Given the description of an element on the screen output the (x, y) to click on. 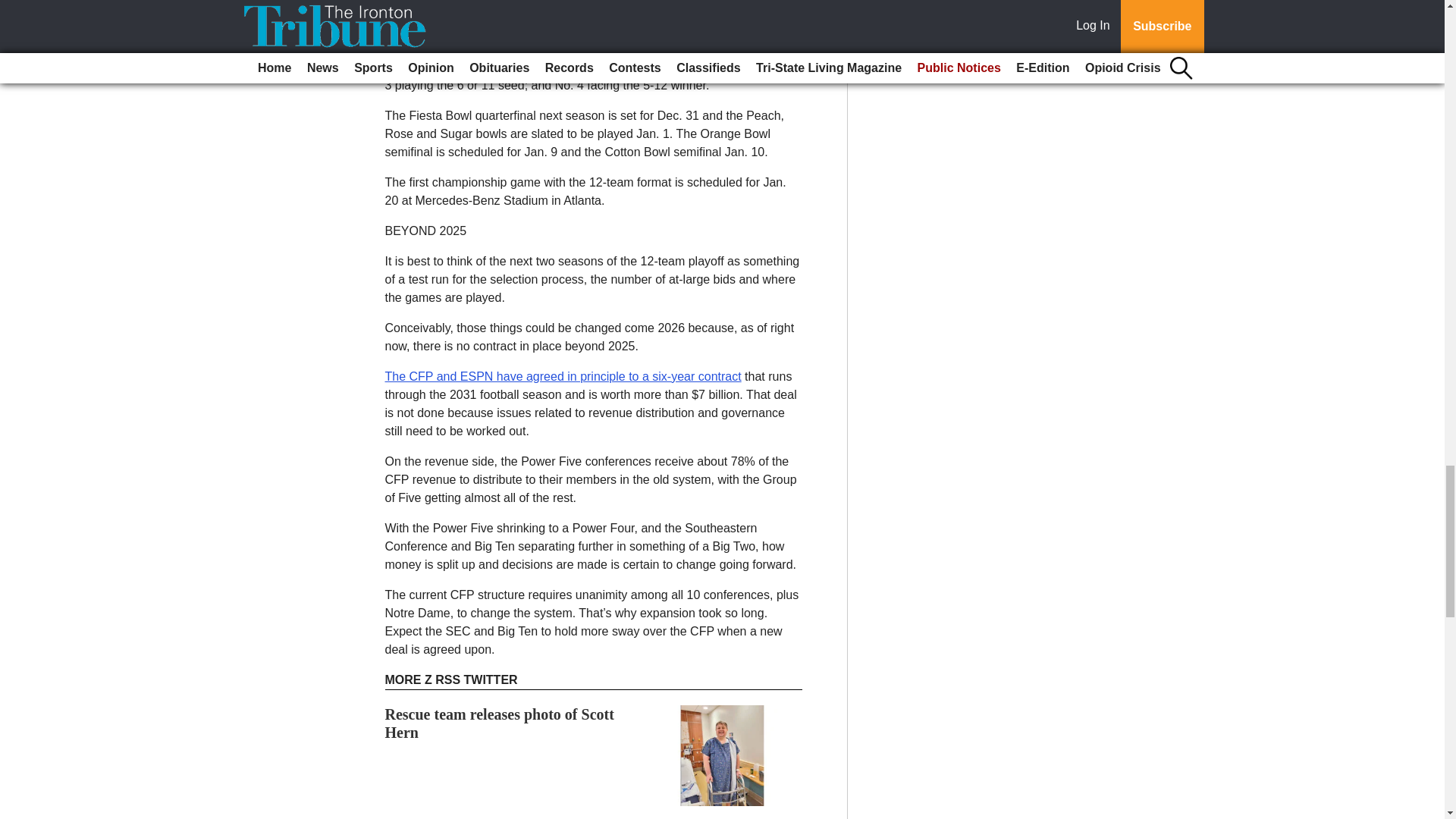
Rescue team releases photo of Scott Hern (499, 723)
Rescue team releases photo of Scott Hern (499, 723)
